Given the description of an element on the screen output the (x, y) to click on. 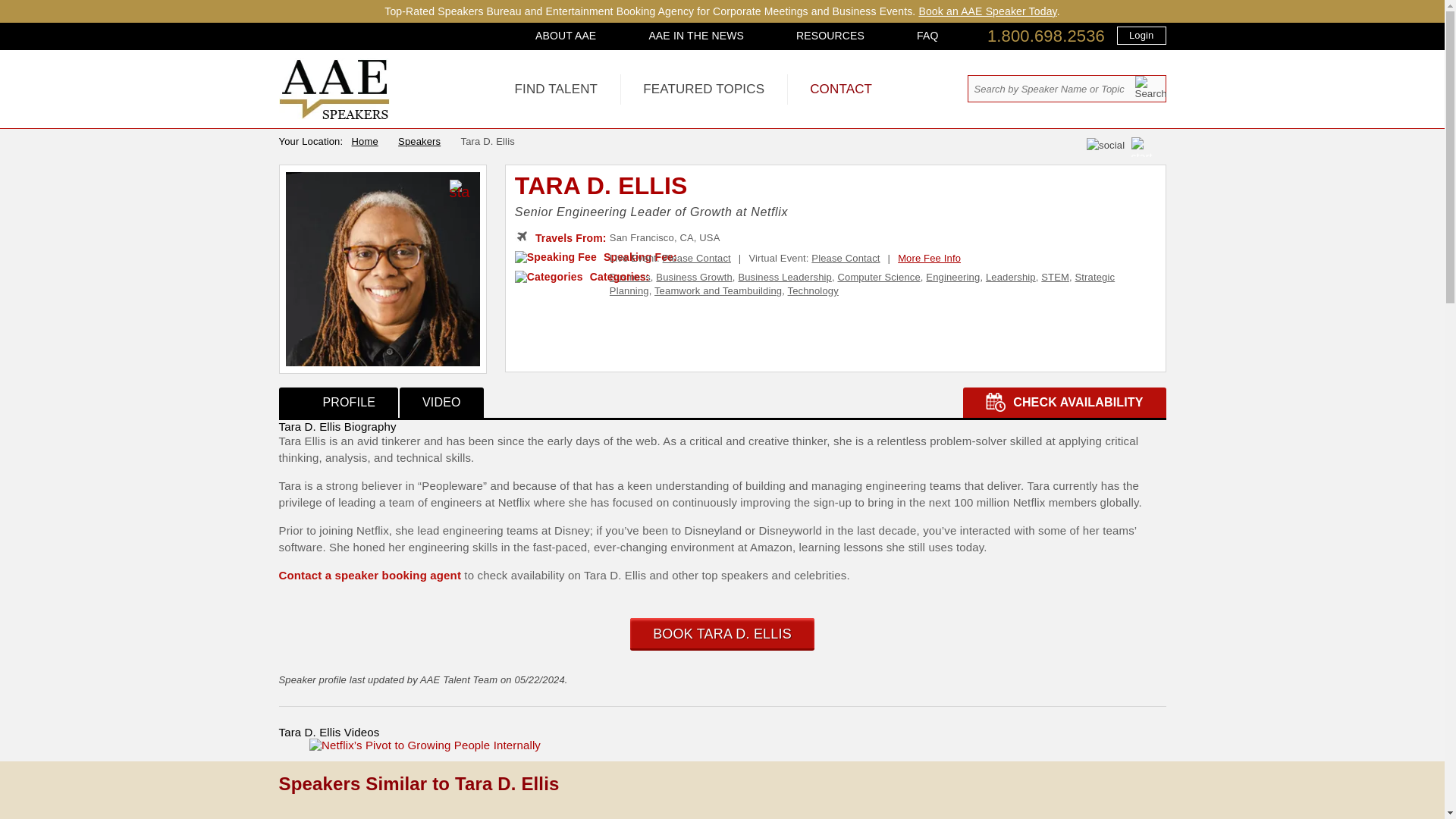
All American Speakers Bureau and Celebrity Booking Agency (334, 115)
RESOURCES (829, 34)
AAE IN THE NEWS (695, 34)
ABOUT AAE (565, 34)
1.800.698.2536 (1046, 35)
FAQ (927, 34)
Book an AAE Speaker Today (987, 10)
Login (1141, 35)
Search (1150, 87)
